Given the description of an element on the screen output the (x, y) to click on. 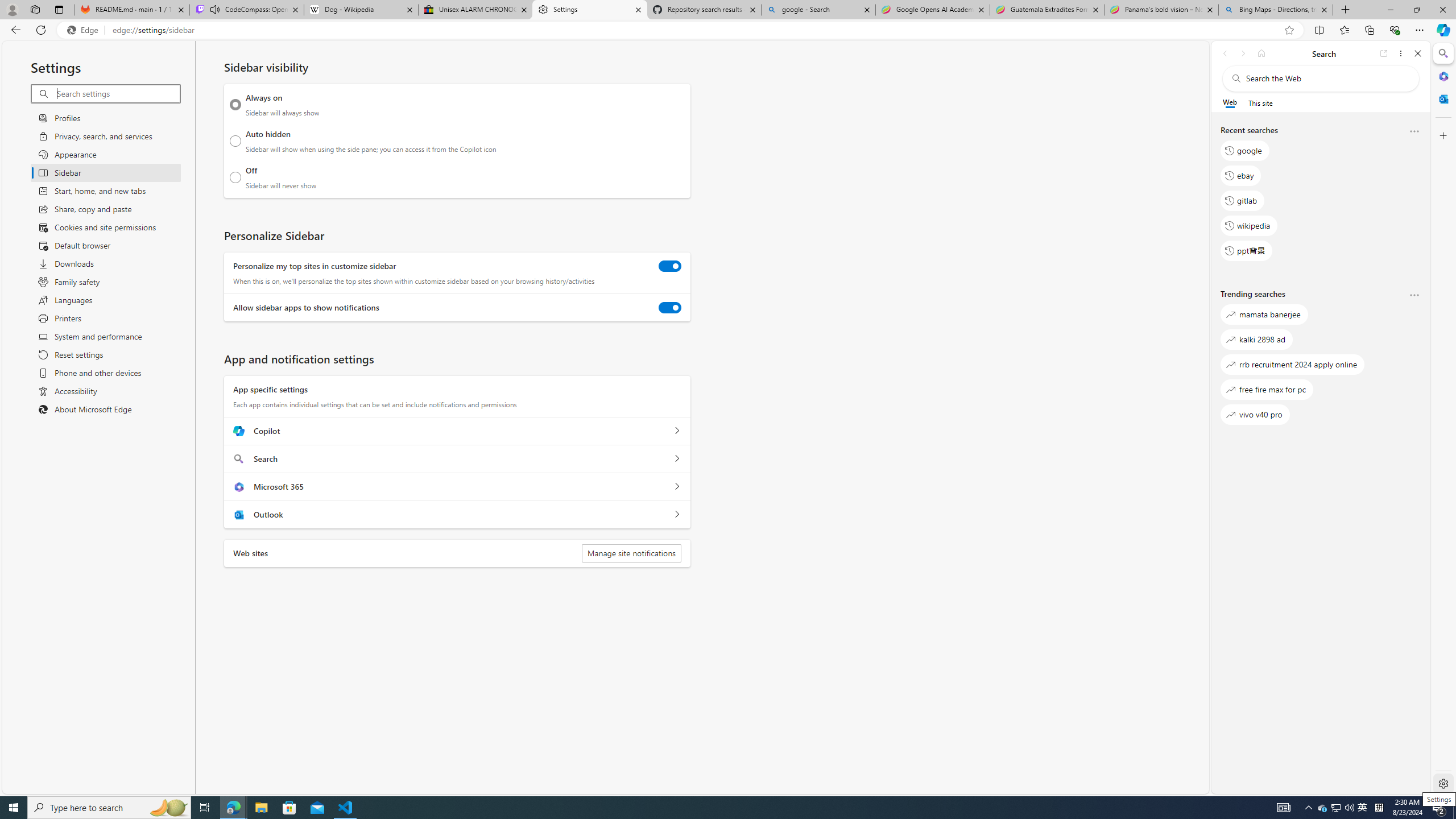
google (1244, 150)
kalki 2898 ad (1256, 339)
